Given the description of an element on the screen output the (x, y) to click on. 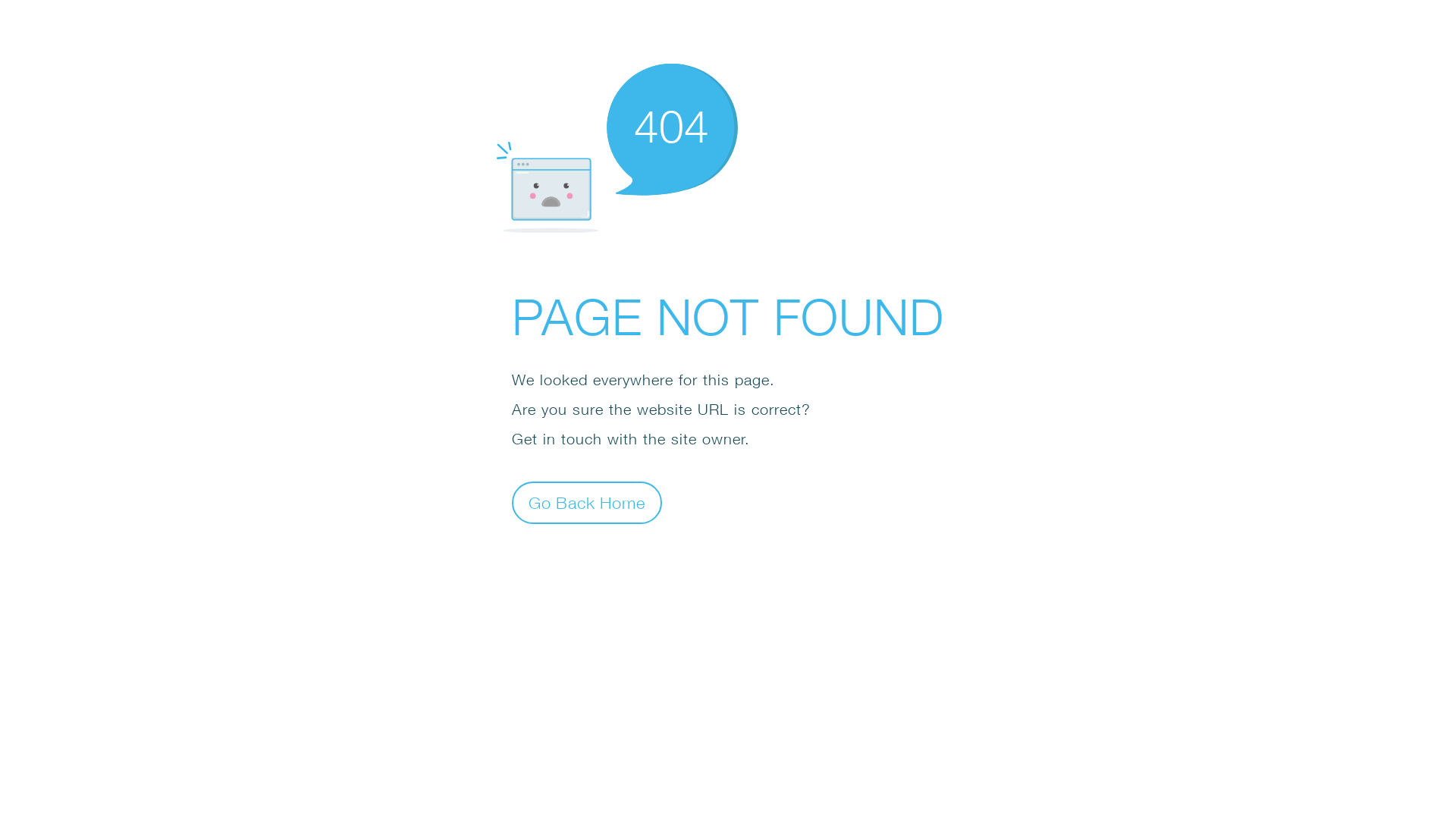
Go Back Home Element type: text (586, 502)
